Given the description of an element on the screen output the (x, y) to click on. 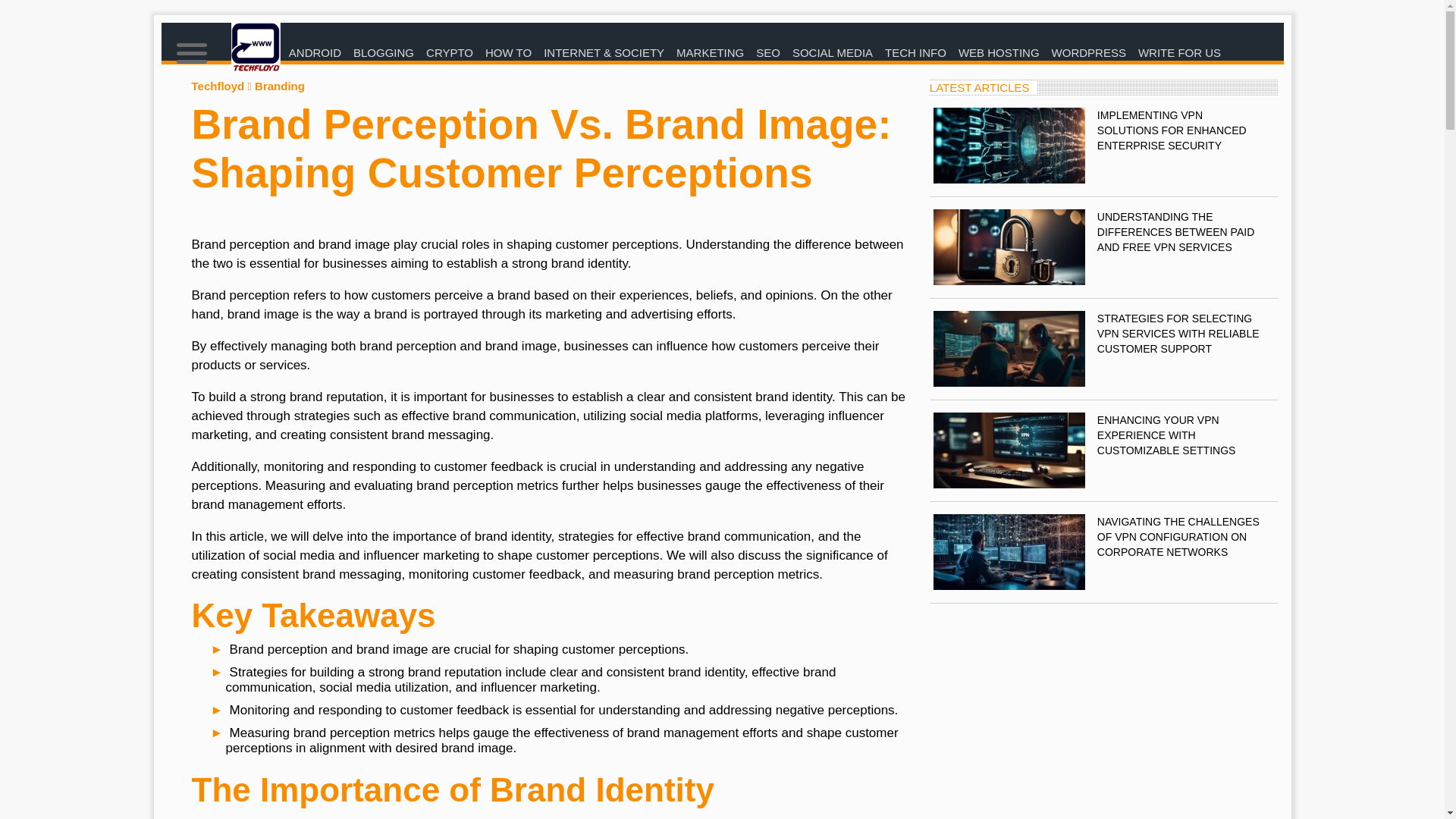
Implementing VPN Solutions for Enhanced Enterprise Security (1008, 145)
WEB HOSTING (998, 53)
WORDPRESS (1088, 53)
SEO (767, 53)
Enhancing Your VPN Experience With Customizable Settings (1008, 450)
Advertisement (1103, 709)
CRYPTO (449, 53)
SOCIAL MEDIA (832, 53)
WRITE FOR US (1179, 53)
HOW TO (508, 53)
MARKETING (709, 53)
TECH INFO (915, 53)
ANDROID (314, 53)
